Given the description of an element on the screen output the (x, y) to click on. 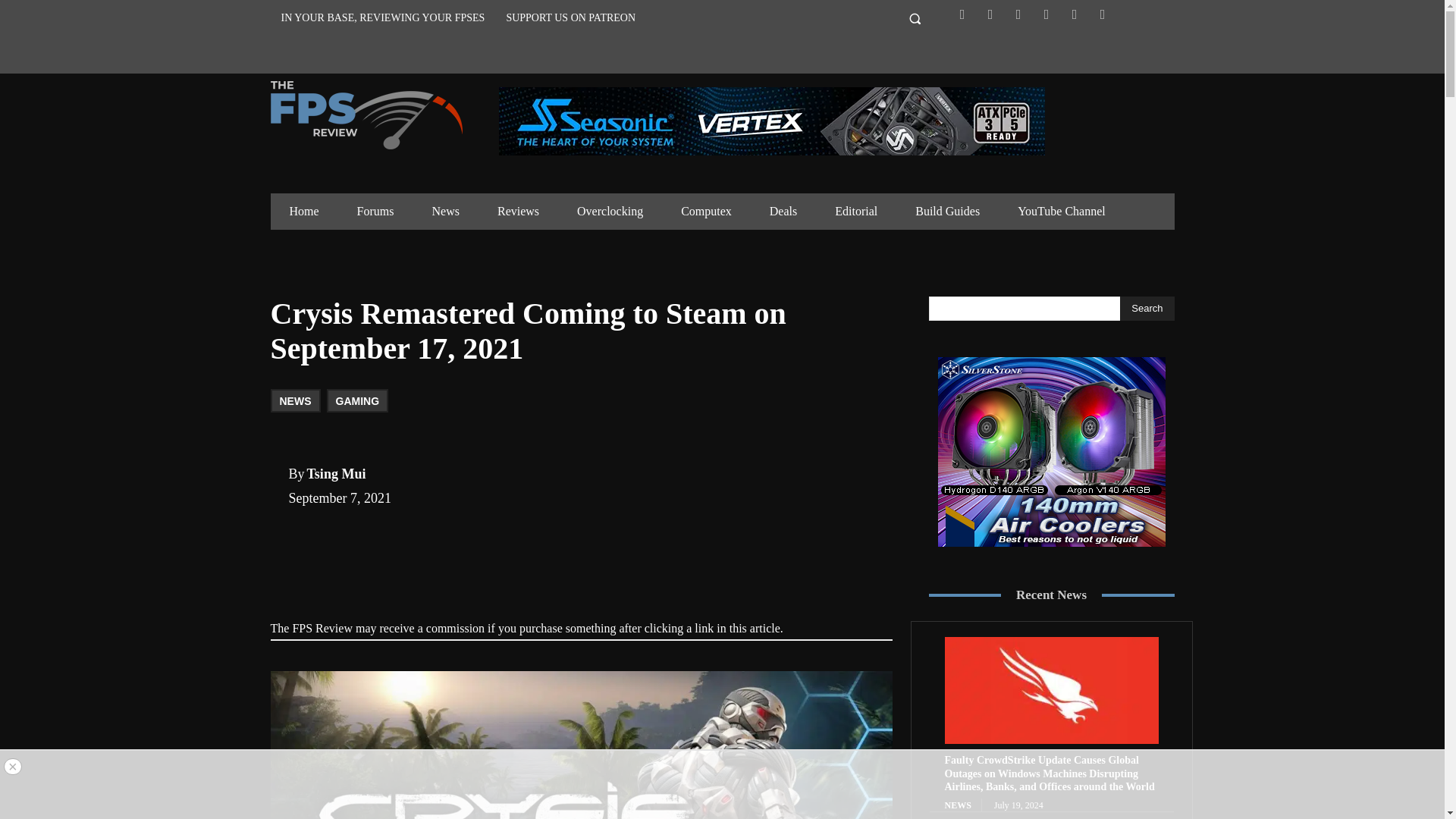
Facebook (962, 13)
Flipboard (990, 13)
Instagram (1018, 13)
